Given the description of an element on the screen output the (x, y) to click on. 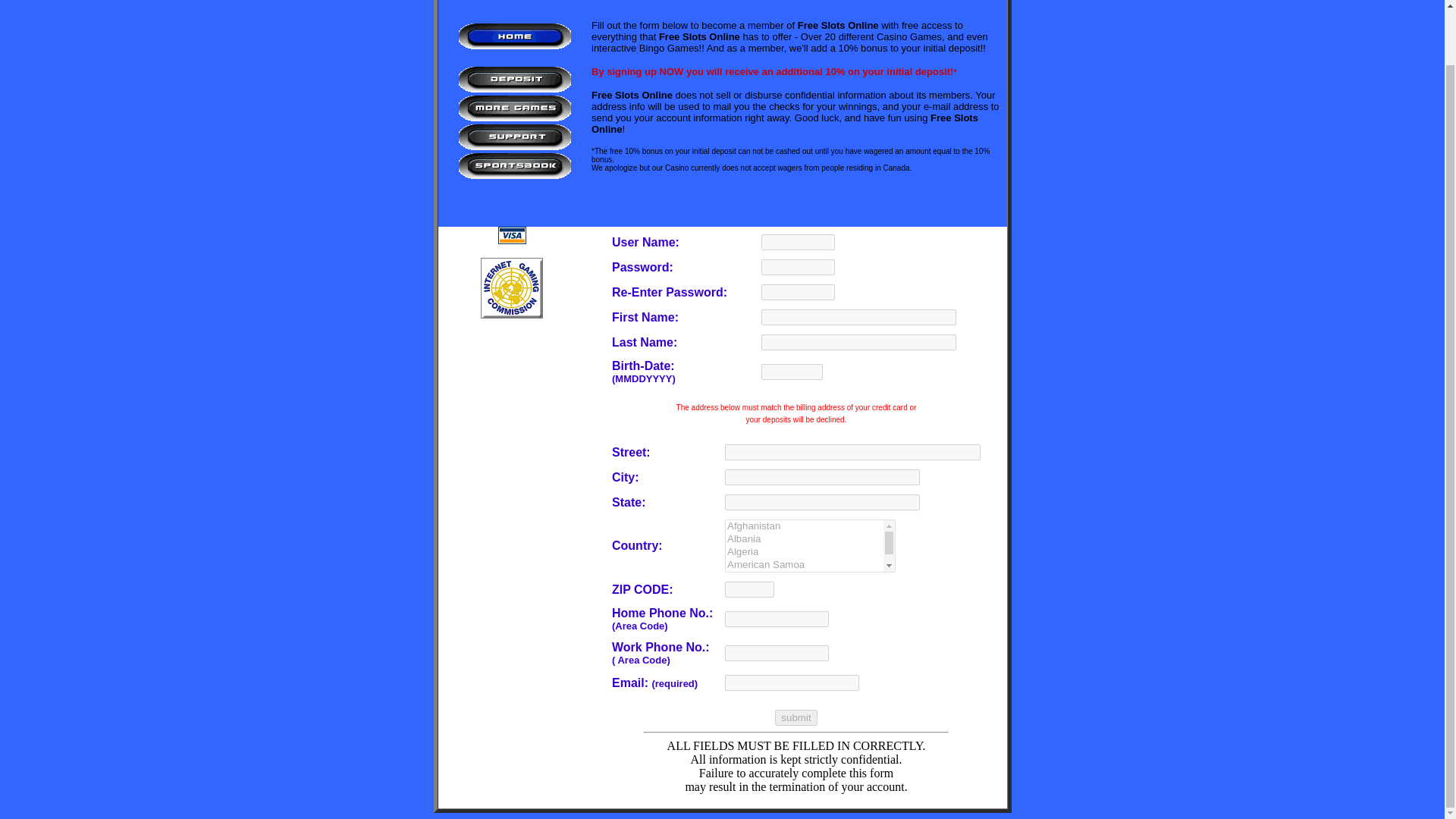
submit (795, 717)
submit (795, 717)
